Given the description of an element on the screen output the (x, y) to click on. 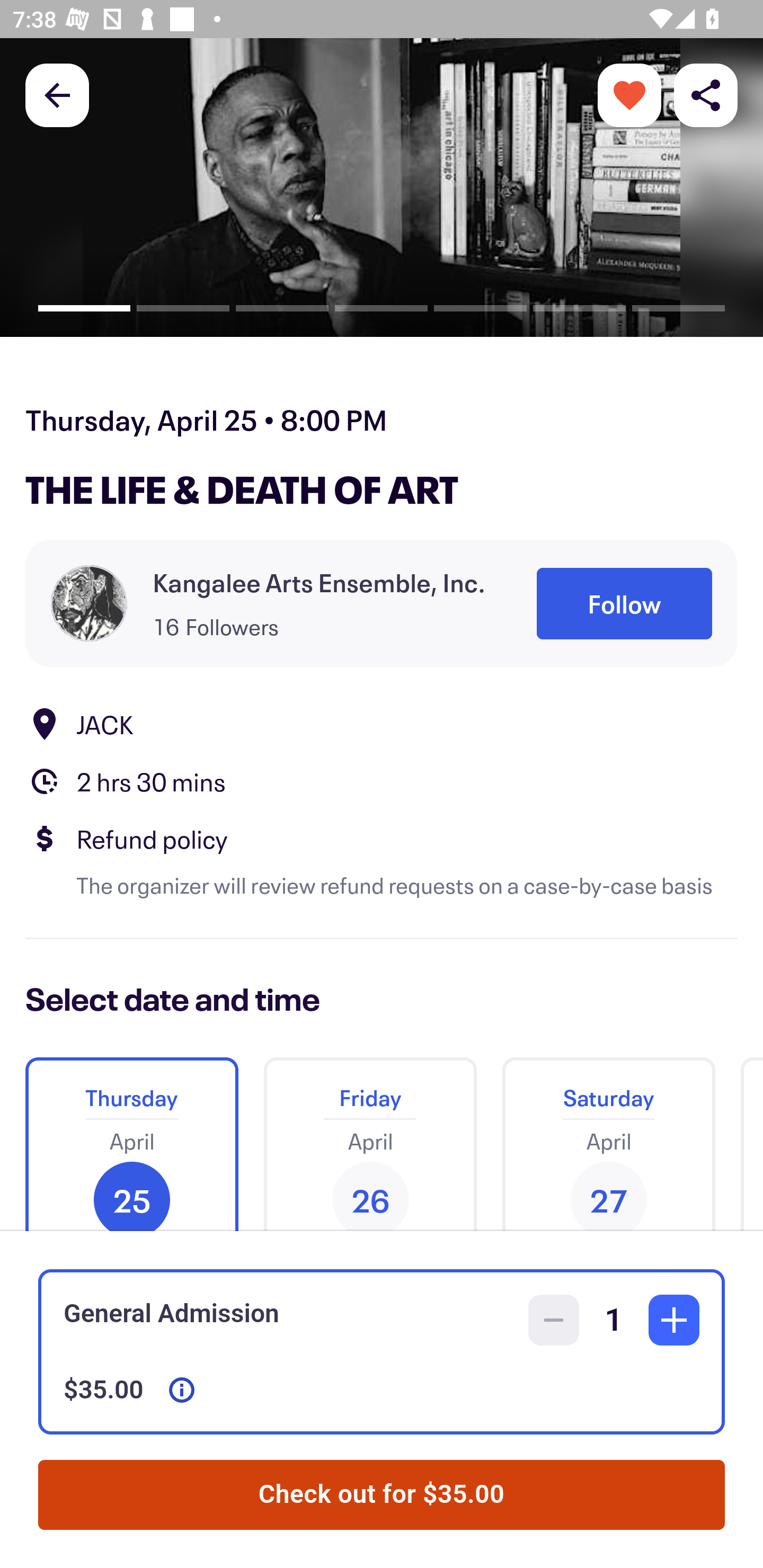
Back (57, 94)
More (629, 94)
Share (705, 94)
Kangalee Arts Ensemble, Inc. (319, 582)
Organizer profile picture (89, 602)
Follow (623, 603)
Location JACK (381, 724)
Thursday April 25 (131, 1137)
Friday April 26 (370, 1137)
Saturday April 27 (608, 1137)
